Given the description of an element on the screen output the (x, y) to click on. 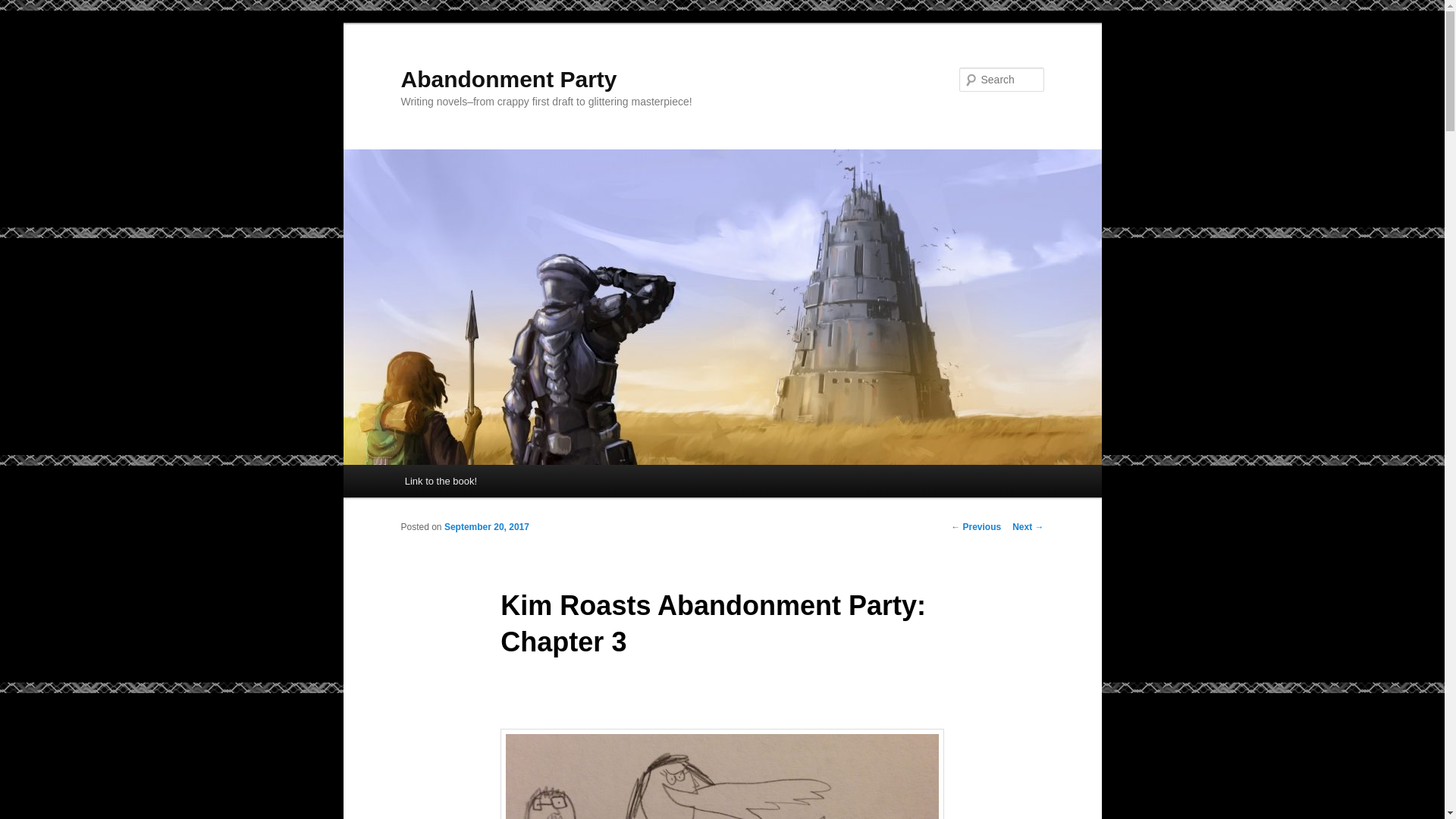
Abandonment Party (507, 78)
Link to the book! (441, 481)
6:00 AM (486, 526)
Search (24, 8)
September 20, 2017 (486, 526)
